Given the description of an element on the screen output the (x, y) to click on. 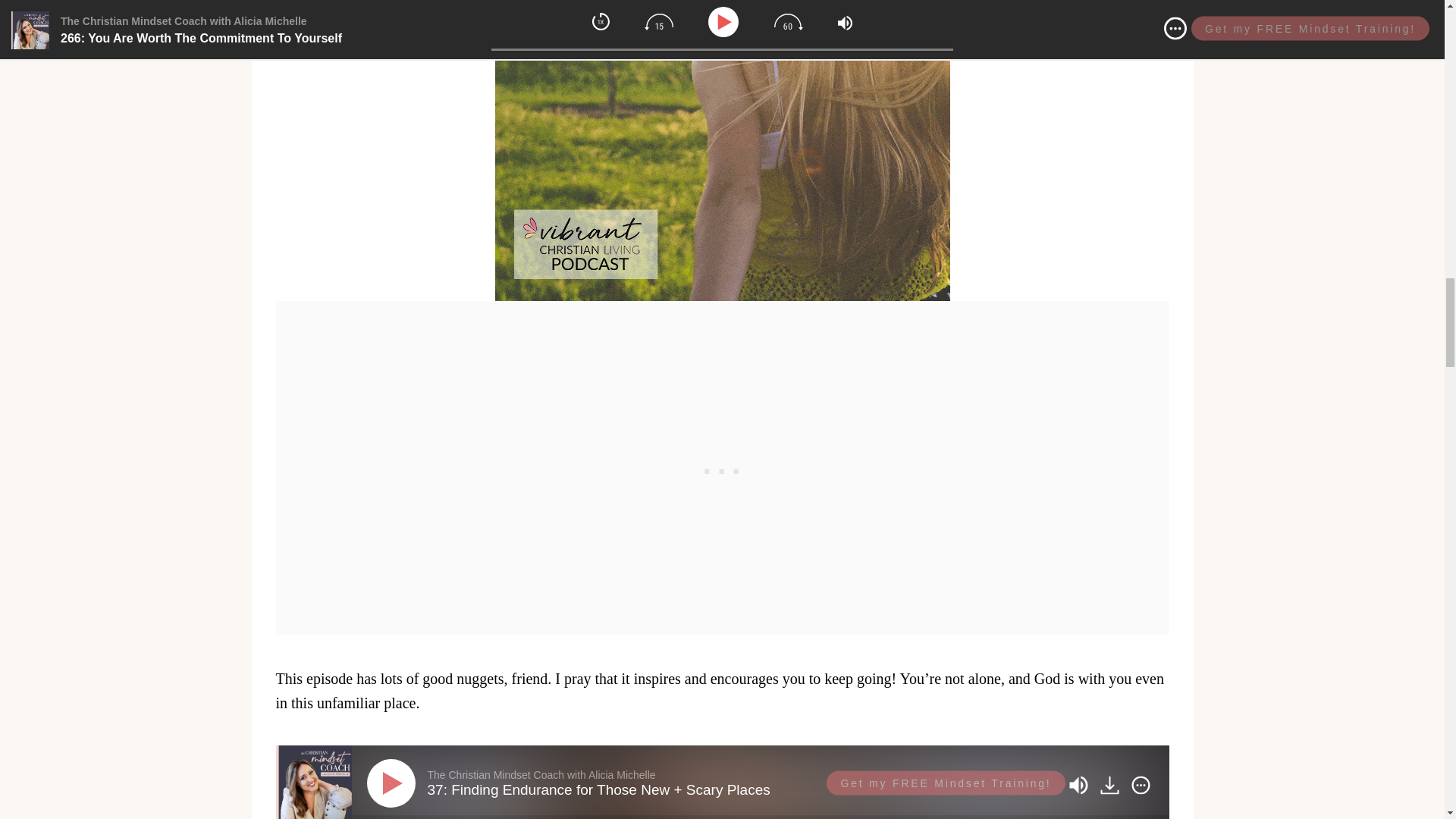
Download (1111, 784)
Download (1109, 784)
Get my FREE Mindset Training! (945, 783)
More (1139, 784)
